Given the description of an element on the screen output the (x, y) to click on. 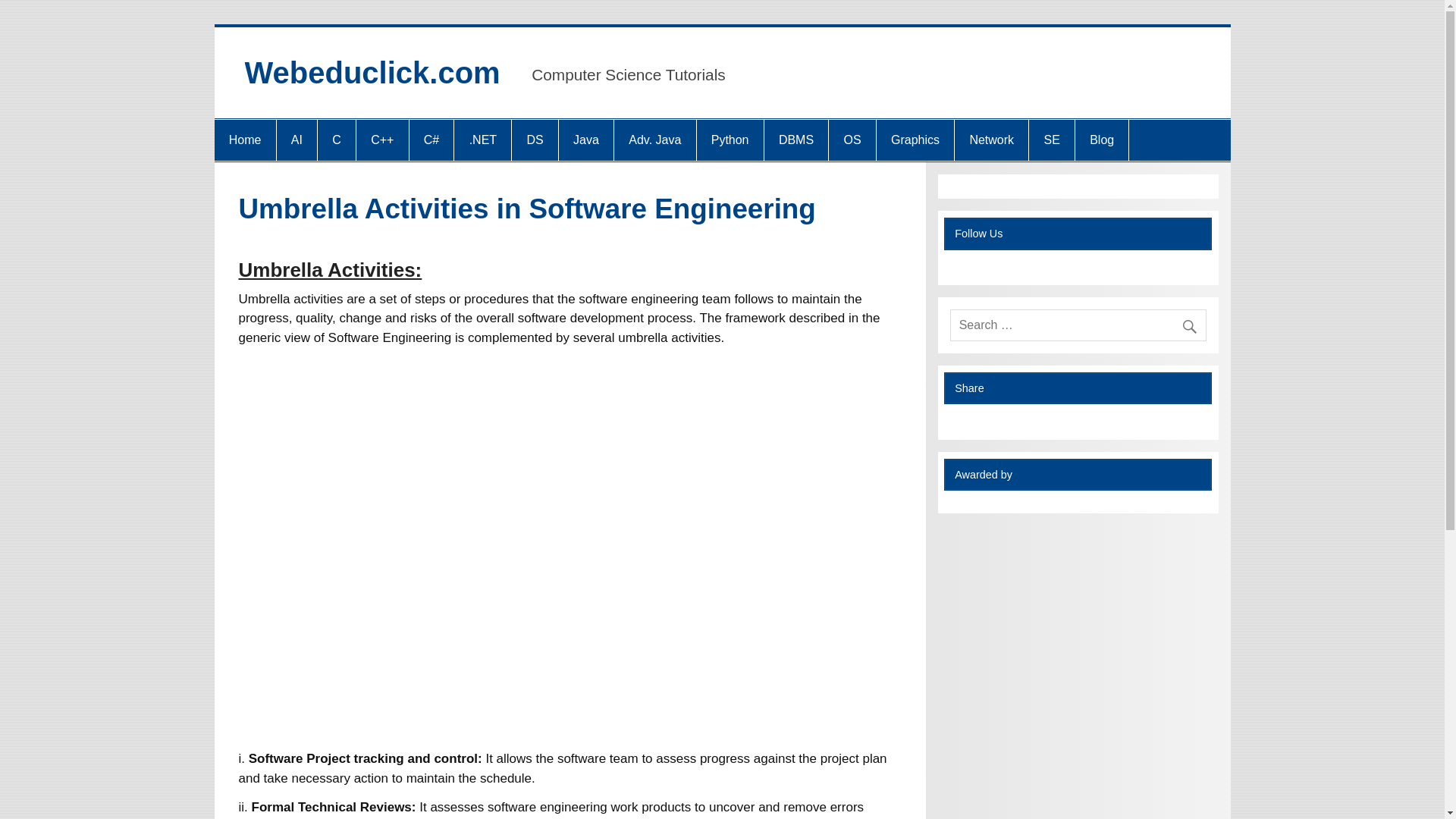
Home (244, 139)
C (336, 139)
Webeduclick.com (371, 72)
AI (296, 139)
